Given the description of an element on the screen output the (x, y) to click on. 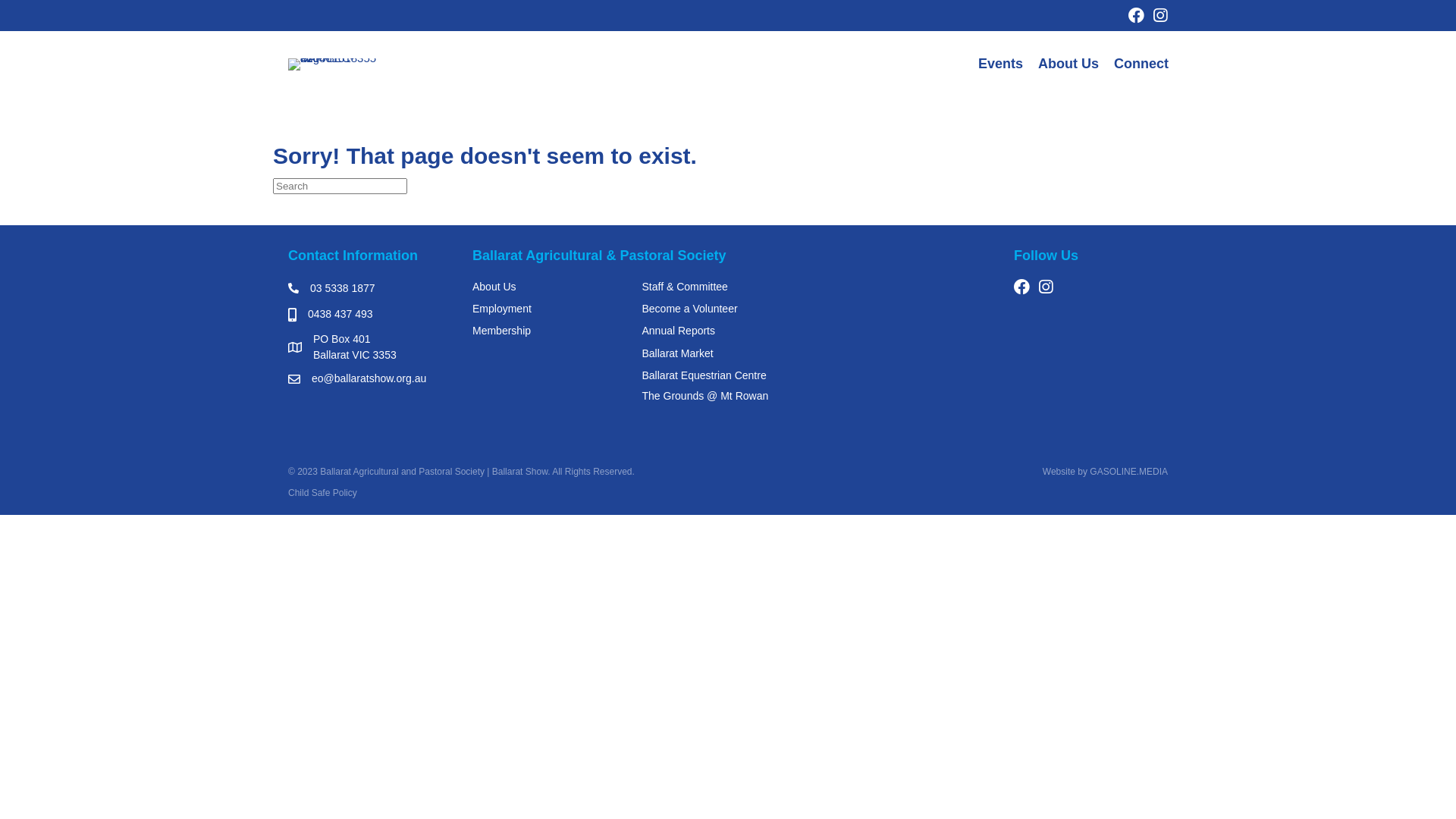
Instagram Element type: hover (1045, 286)
Child Safe Policy Element type: text (322, 492)
eo@ballaratshow.org.au Element type: text (368, 378)
Become a Volunteer Element type: text (689, 308)
Ballarat Equestrian Centre Element type: text (703, 375)
0438 437 493 Element type: text (340, 314)
The Grounds @ Mt Rowan Element type: text (704, 395)
Connect Element type: text (1141, 63)
Facebook Element type: hover (1136, 15)
Ballarat Market Element type: text (676, 353)
Employment Element type: text (501, 308)
About Us Element type: text (494, 286)
Membership Element type: text (501, 330)
Events Element type: text (1000, 63)
Annual Reports Element type: text (678, 330)
03 5338 1877 Element type: text (342, 288)
Facebook Element type: hover (1021, 286)
Staff & Committee Element type: text (684, 286)
PO Box 401
Ballarat VIC 3353 Element type: text (354, 347)
BAP-BEC-Logo-e1646101835542 Element type: hover (333, 63)
Instagram Element type: hover (1159, 15)
GASOLINE.MEDIA Element type: text (1128, 471)
Type and press Enter to search. Element type: hover (728, 185)
About Us Element type: text (1068, 63)
